Given the description of an element on the screen output the (x, y) to click on. 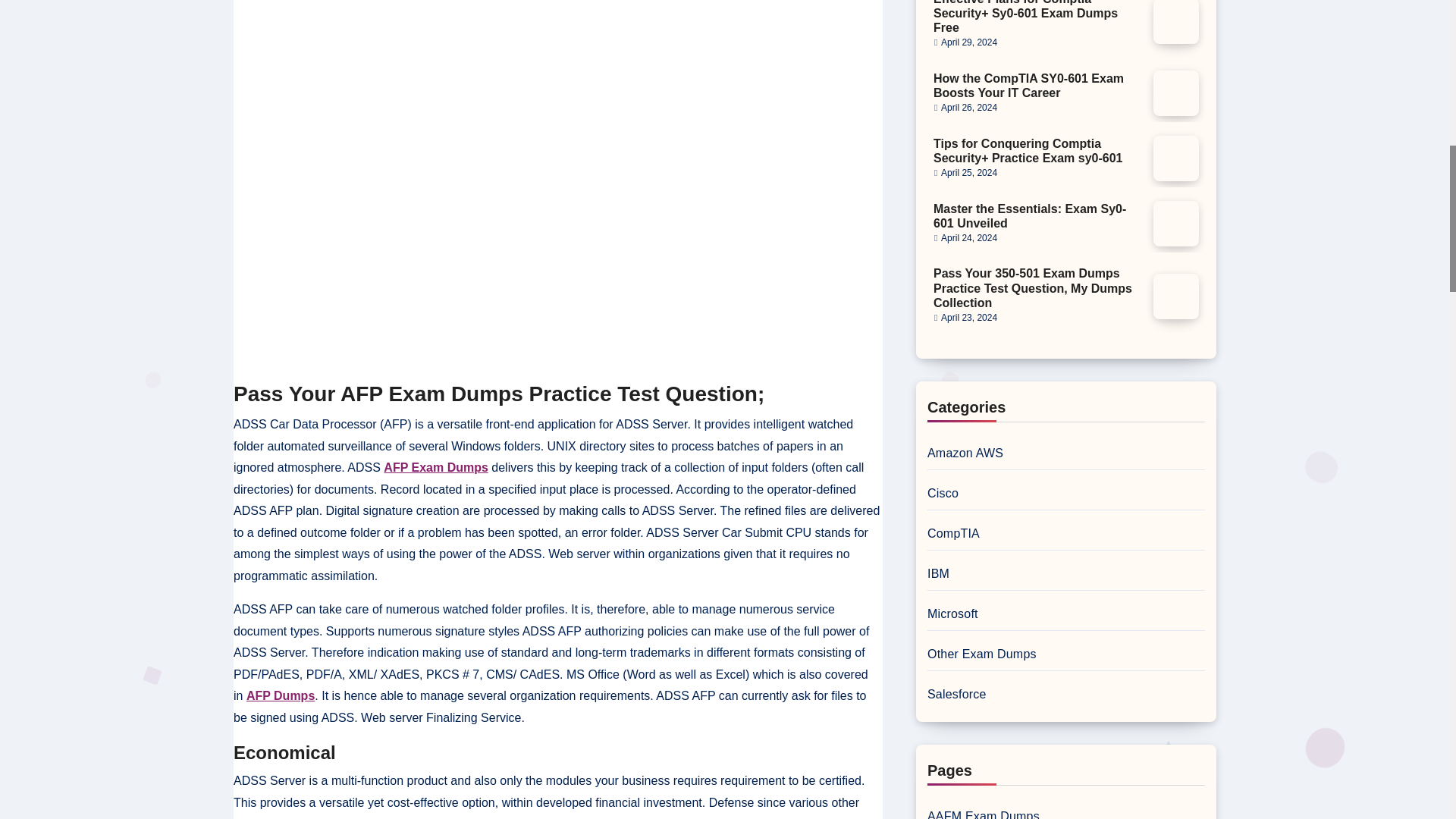
April 29, 2024 (968, 41)
AFP Dumps (280, 695)
How the CompTIA SY0-601 Exam Boosts Your IT Career (1028, 85)
AFP Exam Dumps (435, 467)
